Given the description of an element on the screen output the (x, y) to click on. 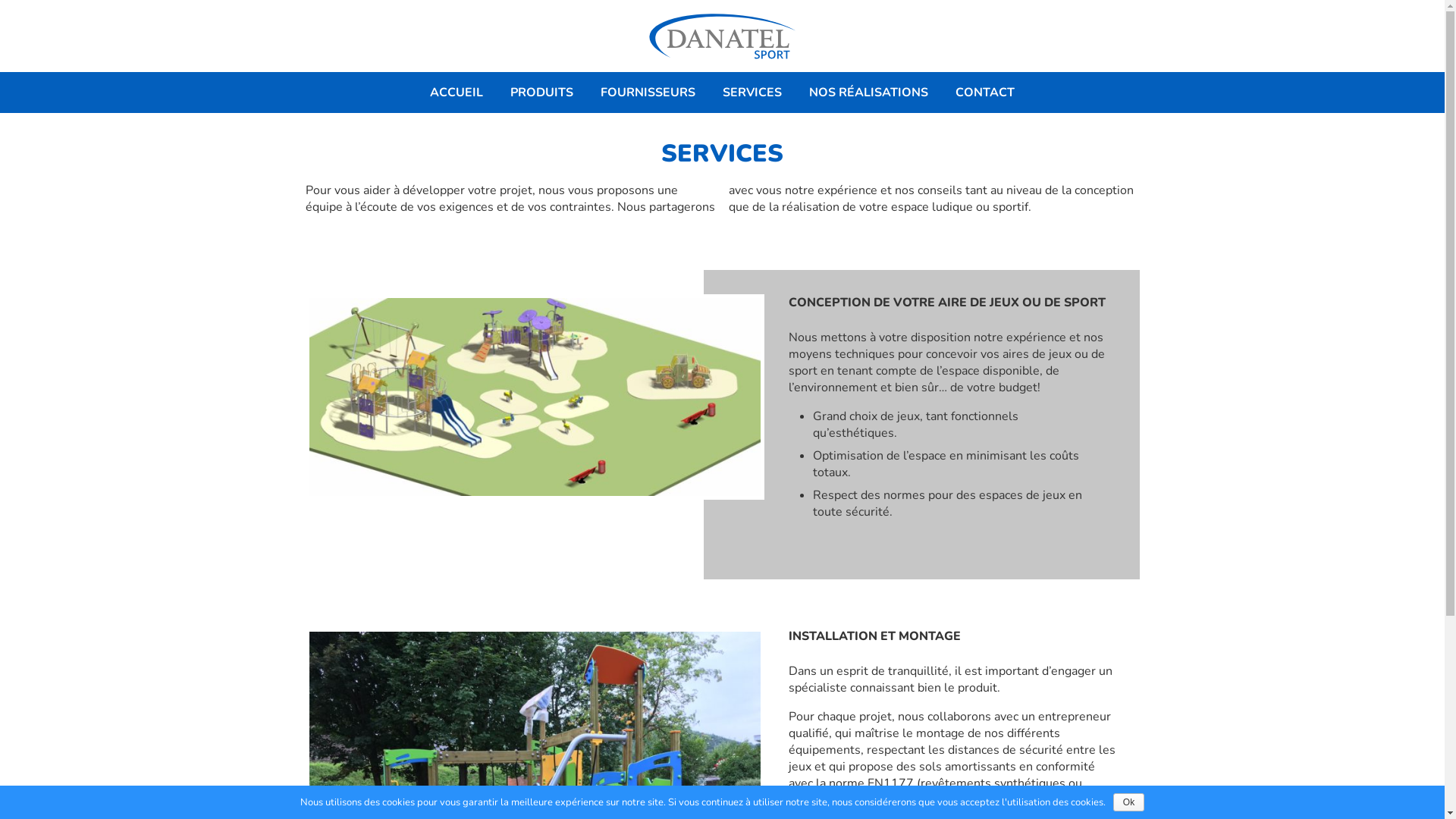
SERVICES Element type: text (751, 92)
PRODUITS Element type: text (541, 92)
Ok Element type: text (1128, 802)
CONTACT Element type: text (984, 92)
FOURNISSEURS Element type: text (647, 92)
ACCUEIL Element type: text (456, 92)
